Given the description of an element on the screen output the (x, y) to click on. 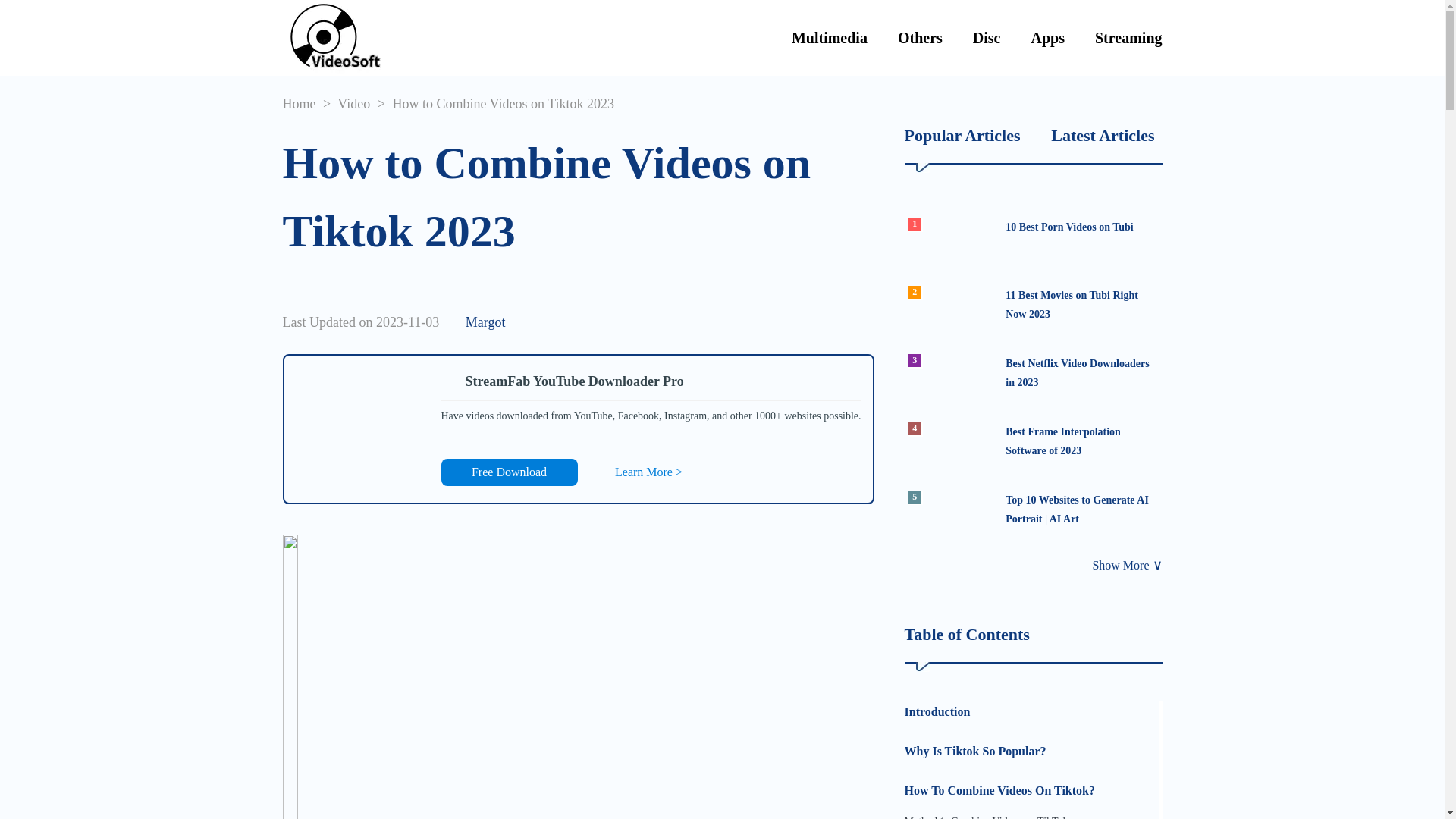
Apps (1047, 37)
Multimedia (1032, 238)
Streaming (829, 37)
Video (1127, 37)
Disc (1032, 306)
Introduction (1032, 443)
Free Download (353, 103)
Why Is Tiktok So Popular? (986, 37)
Others (1032, 375)
Home (1030, 711)
How to Combine Videos on Tiktok 2023 (509, 472)
